Given the description of an element on the screen output the (x, y) to click on. 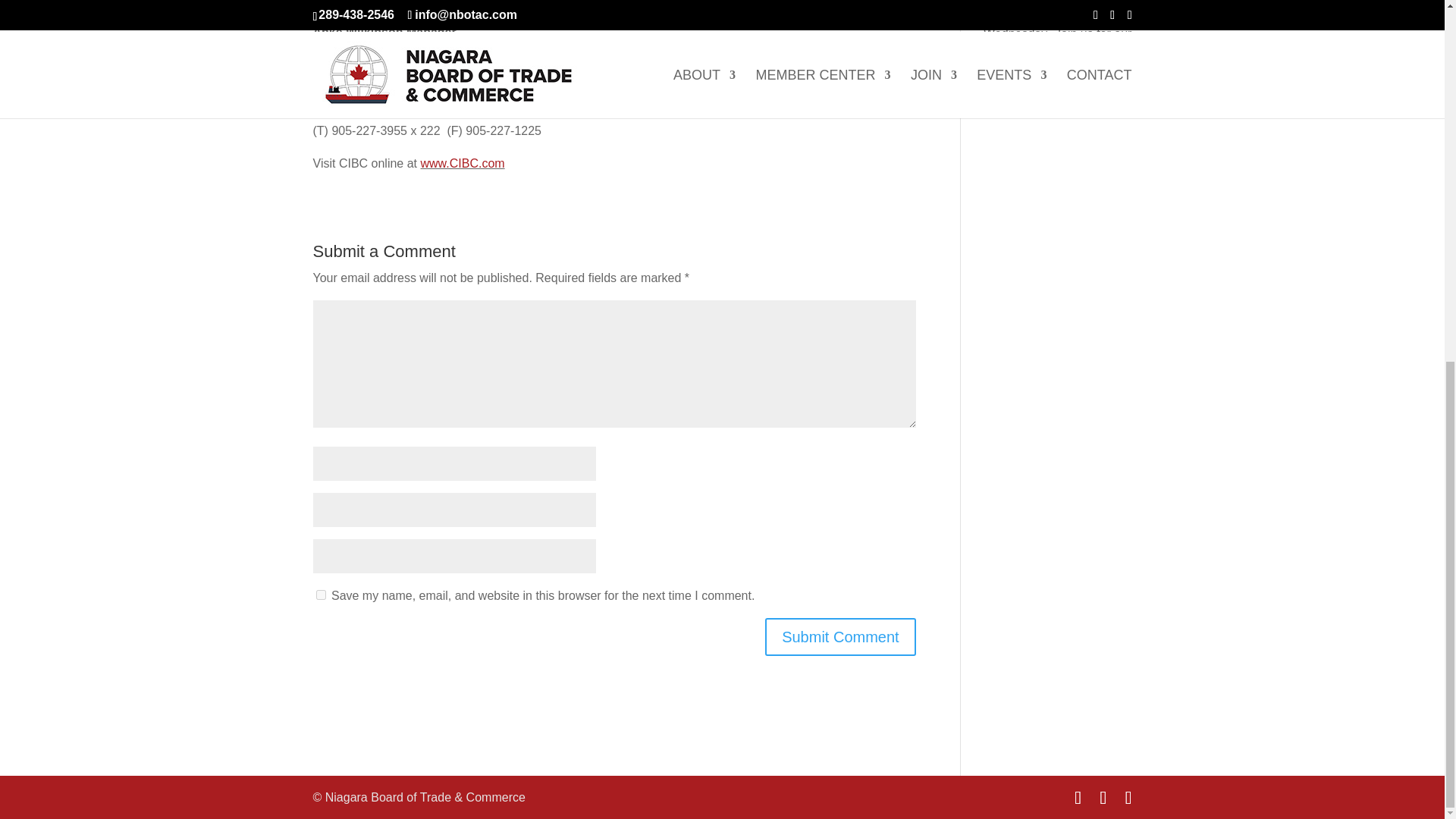
Submit Comment (840, 637)
yes (319, 594)
